Given the description of an element on the screen output the (x, y) to click on. 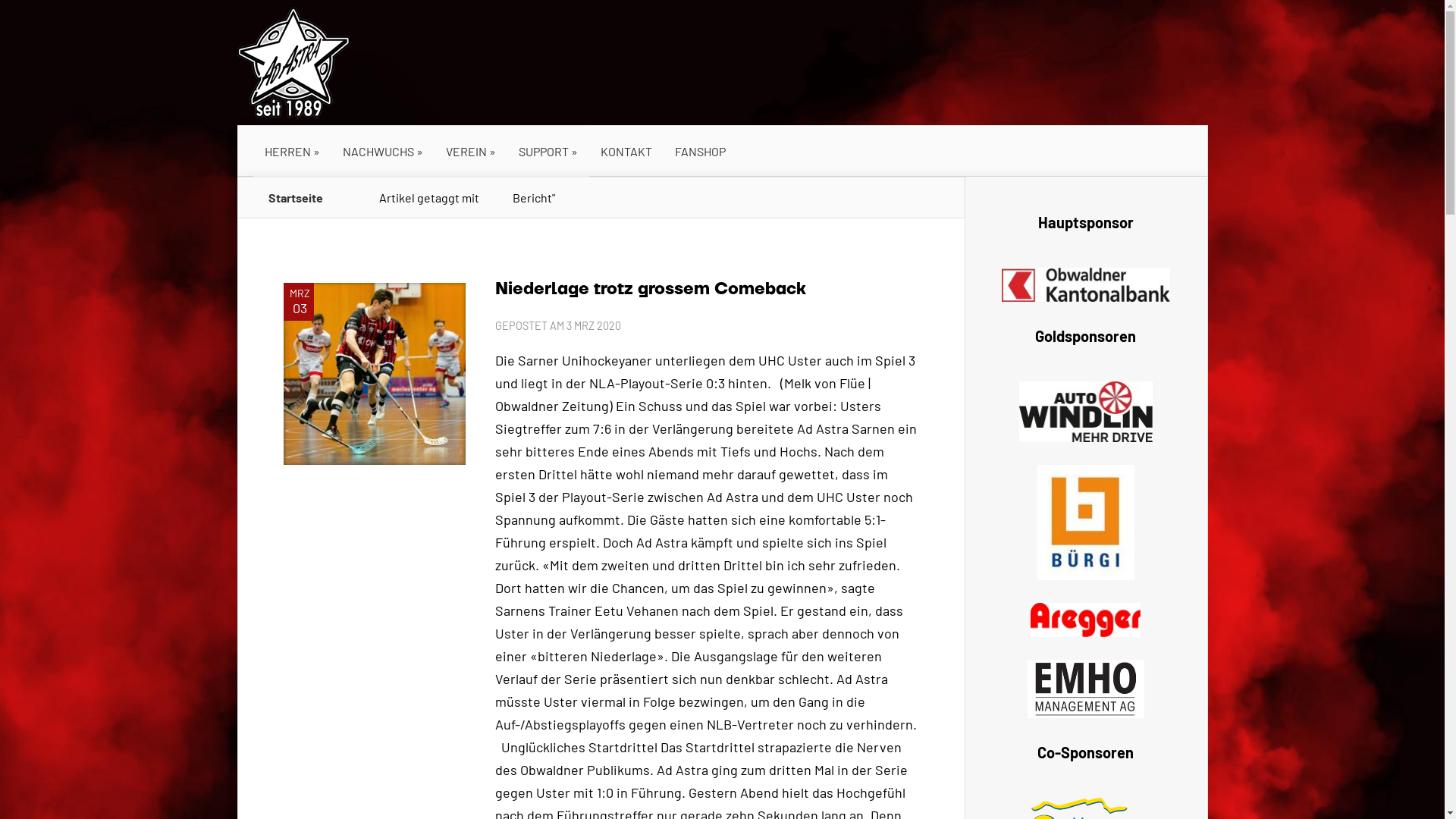
Niederlage trotz grossem Comeback Element type: text (649, 288)
FANSHOP Element type: text (699, 150)
Startseite Element type: text (295, 197)
KONTAKT Element type: text (625, 150)
